Given the description of an element on the screen output the (x, y) to click on. 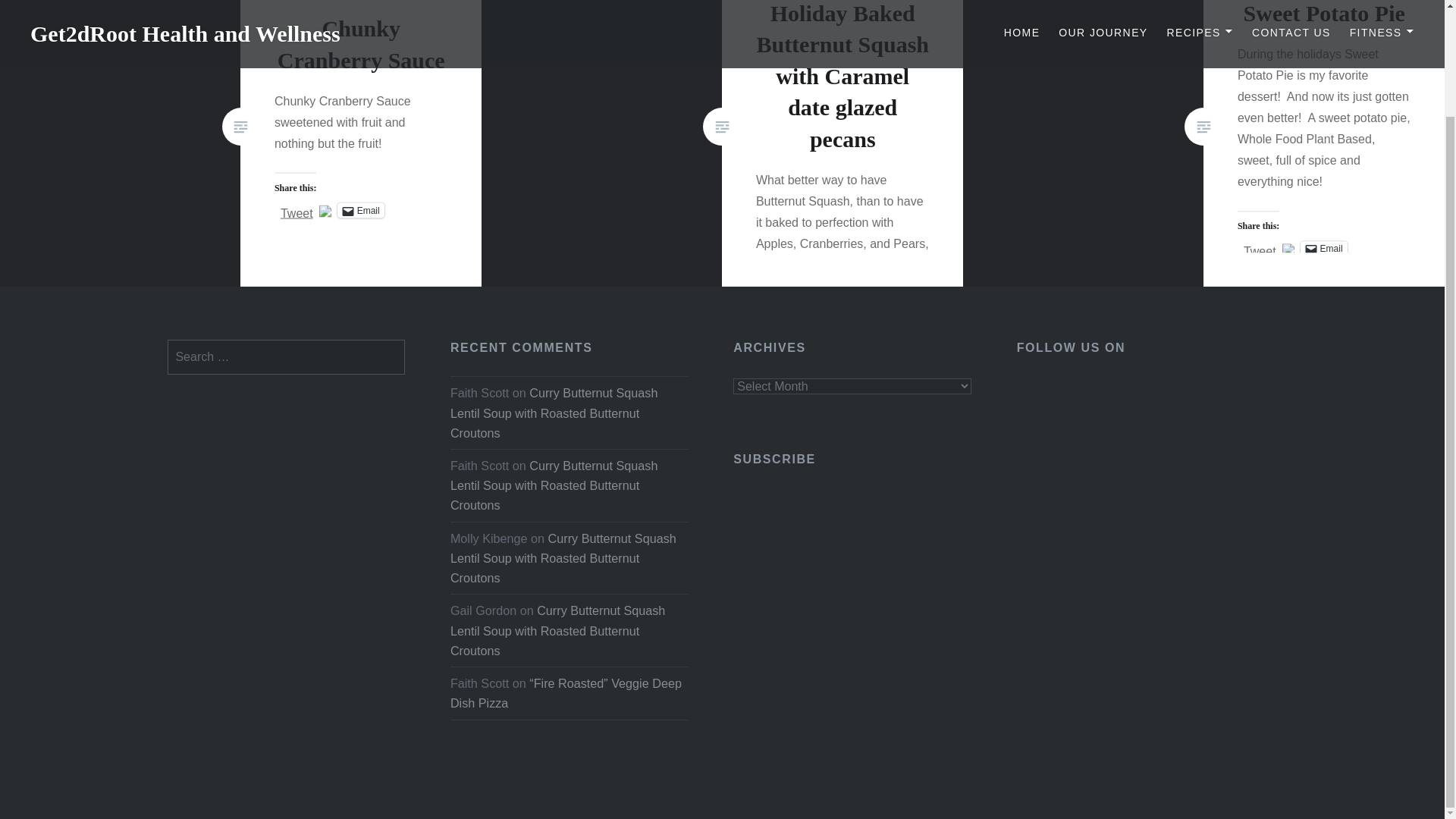
Tweet (297, 209)
Chunky Cranberry Sauce (361, 43)
Tweet (1259, 247)
Click to email a link to a friend (360, 209)
Email (360, 209)
Click to email a link to a friend (1324, 248)
Email (1324, 248)
Sweet Potato Pie (1324, 12)
